Given the description of an element on the screen output the (x, y) to click on. 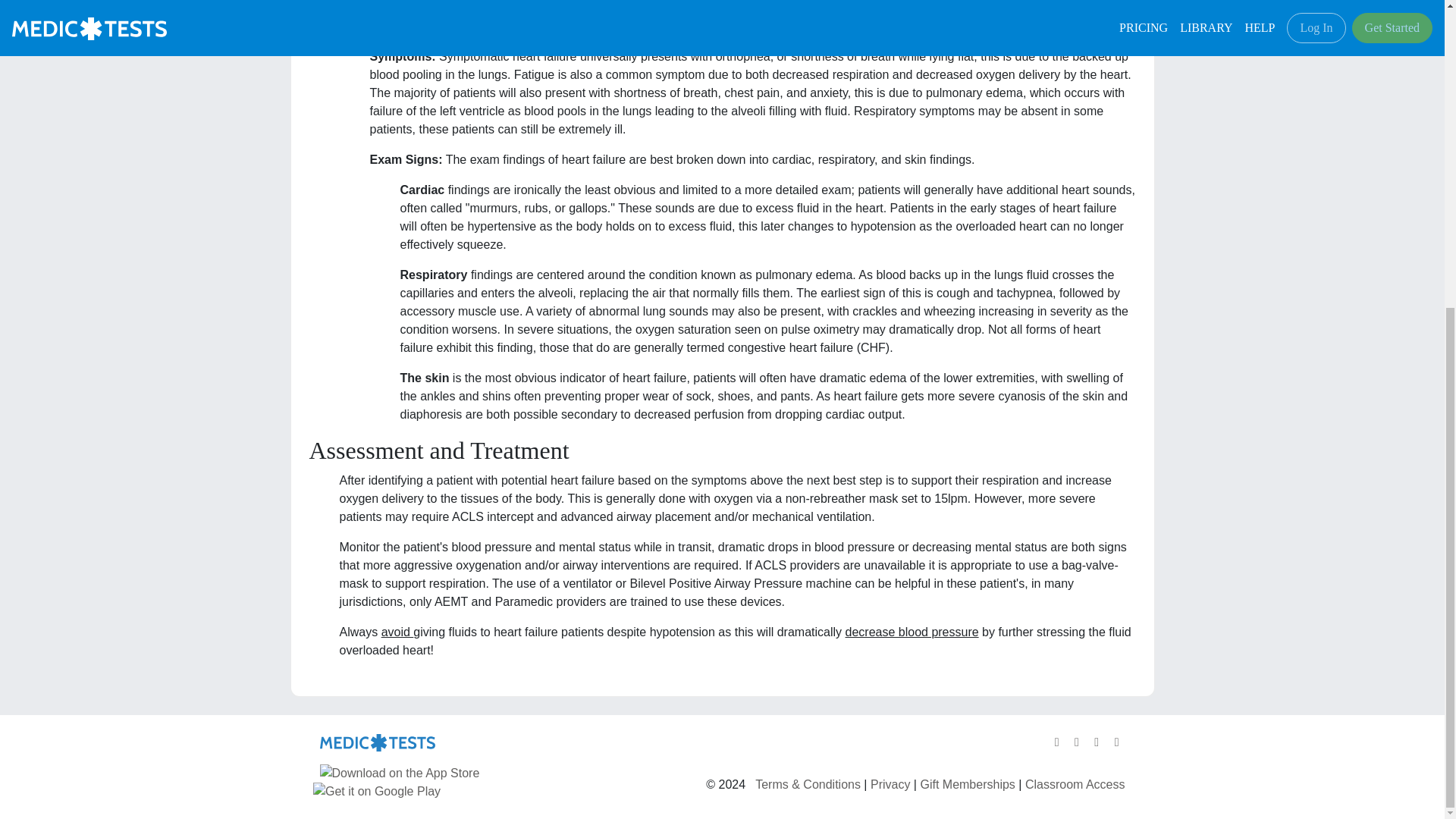
Privacy (890, 784)
Gift Memberships (967, 784)
Classroom Access (1075, 784)
